Given the description of an element on the screen output the (x, y) to click on. 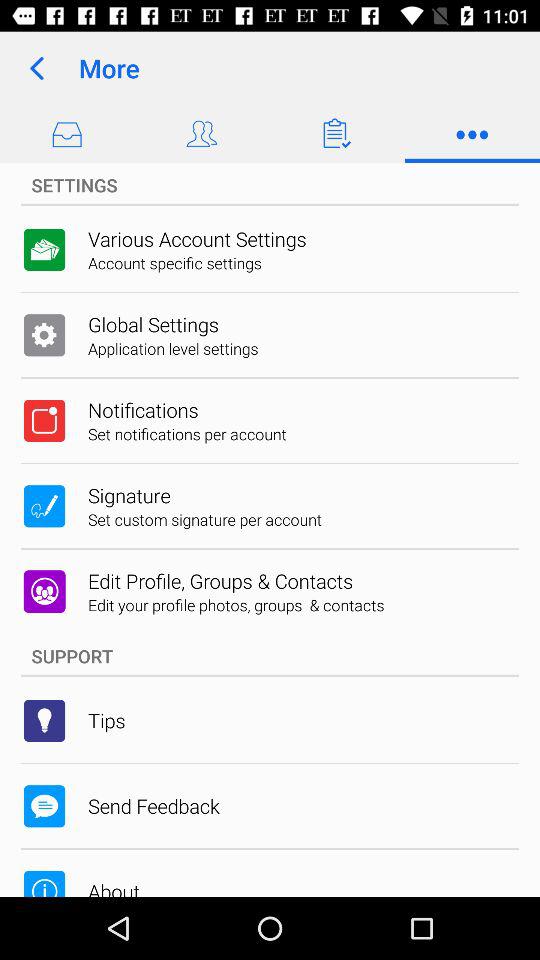
choose the item below the signature icon (205, 519)
